Given the description of an element on the screen output the (x, y) to click on. 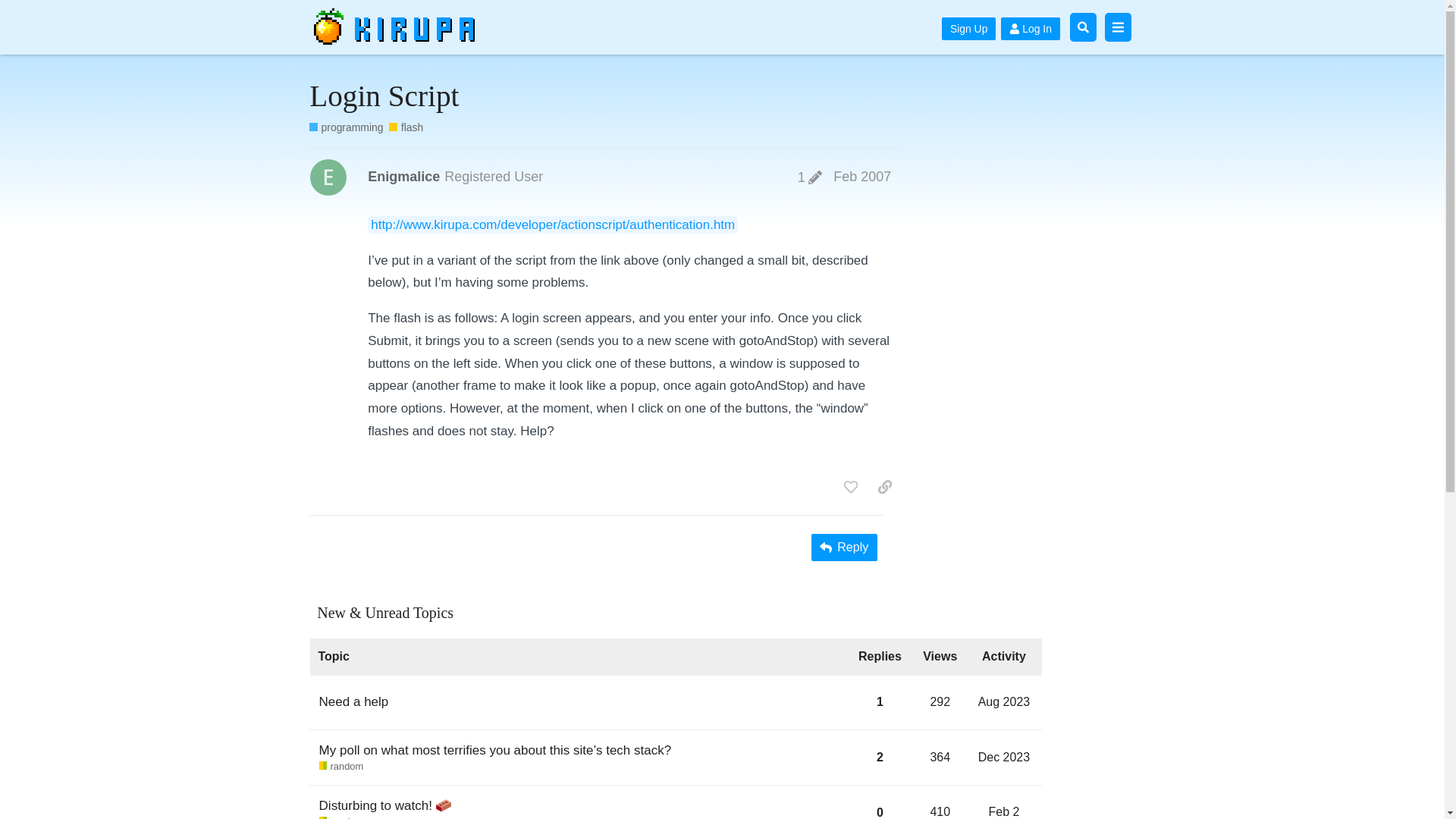
Aug 2023 (1003, 701)
Need a help (353, 701)
menu (1117, 26)
Feb 2007 (861, 176)
post last edited on Oct 18, 2014 11:03 pm (1005, 757)
this topic has been viewed 364 times (810, 177)
copy a link to this post to clipboard (940, 757)
this topic has been viewed 410 times (884, 486)
Post date (940, 811)
This topic has 1 reply (861, 176)
This topic has 0 replies (1005, 706)
Feb 2 (880, 706)
Disturbing to watch! (880, 801)
